Given the description of an element on the screen output the (x, y) to click on. 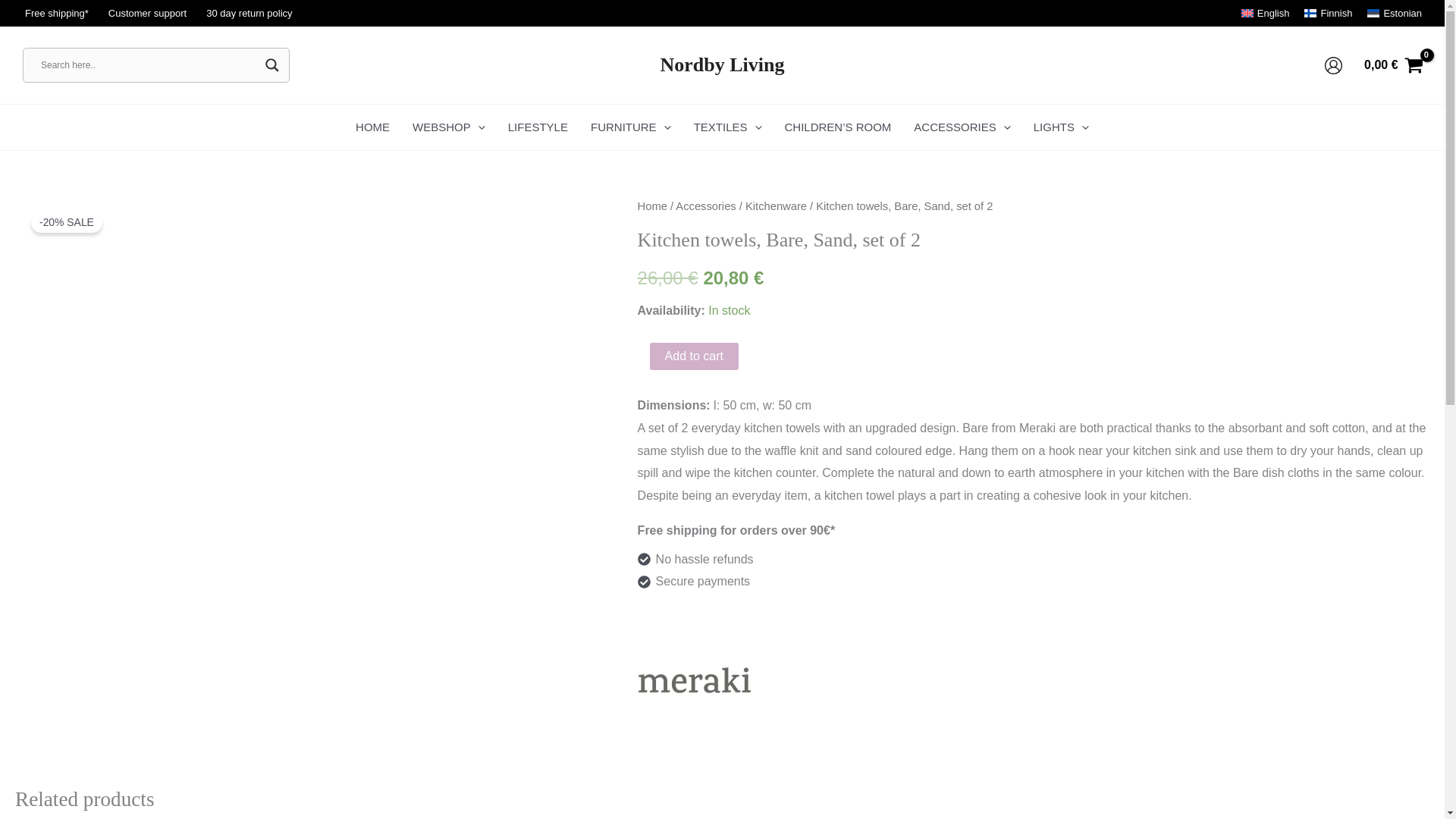
FURNITURE (630, 126)
Estonian (1394, 12)
Nordby Living (721, 65)
30 day return policy (248, 13)
Meraki (694, 680)
HOME (372, 126)
LIFESTYLE (537, 126)
WEBSHOP (448, 126)
Customer support (147, 13)
Finnish (1328, 12)
